Given the description of an element on the screen output the (x, y) to click on. 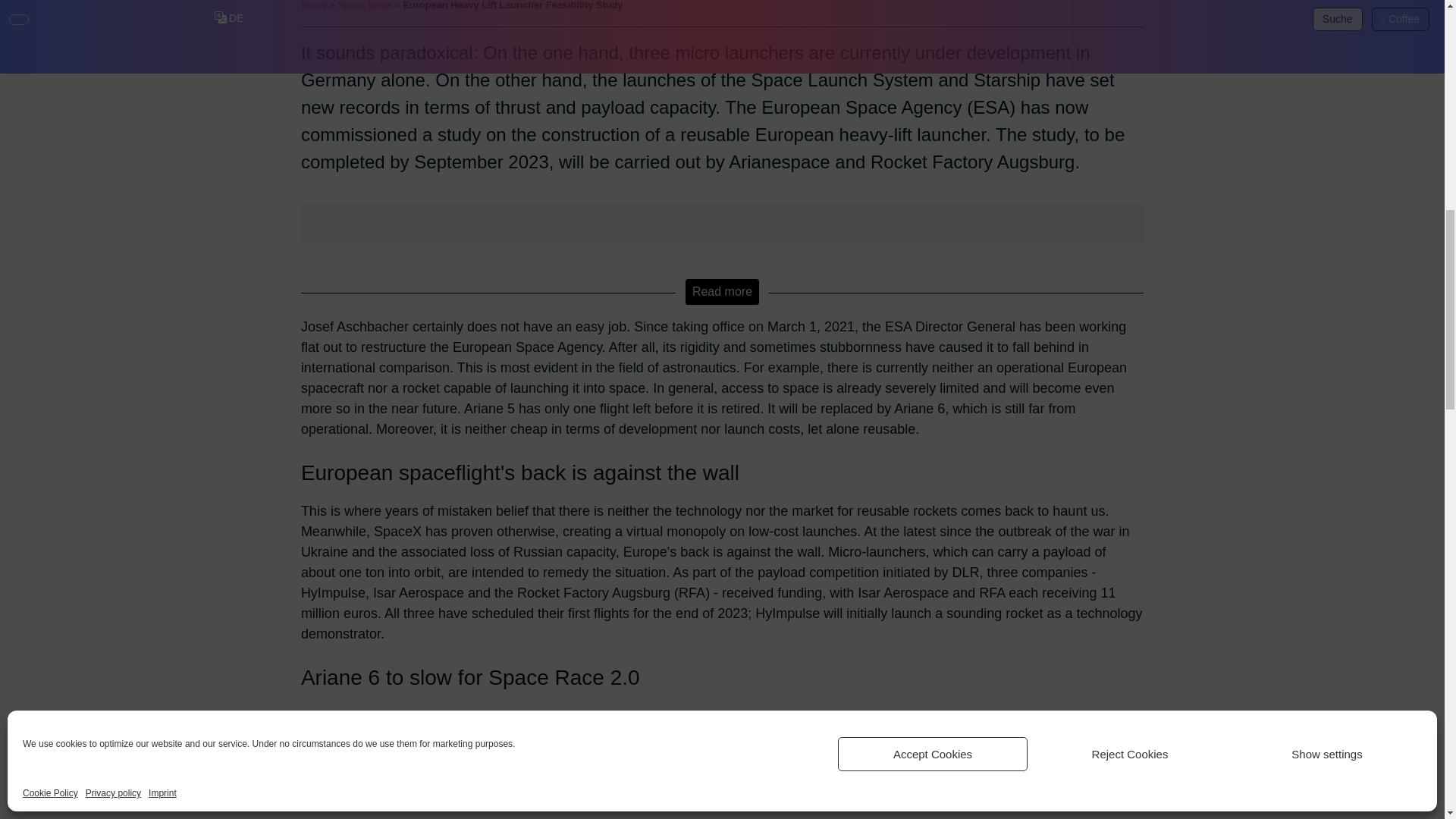
Space News (364, 5)
Home (313, 5)
